Given the description of an element on the screen output the (x, y) to click on. 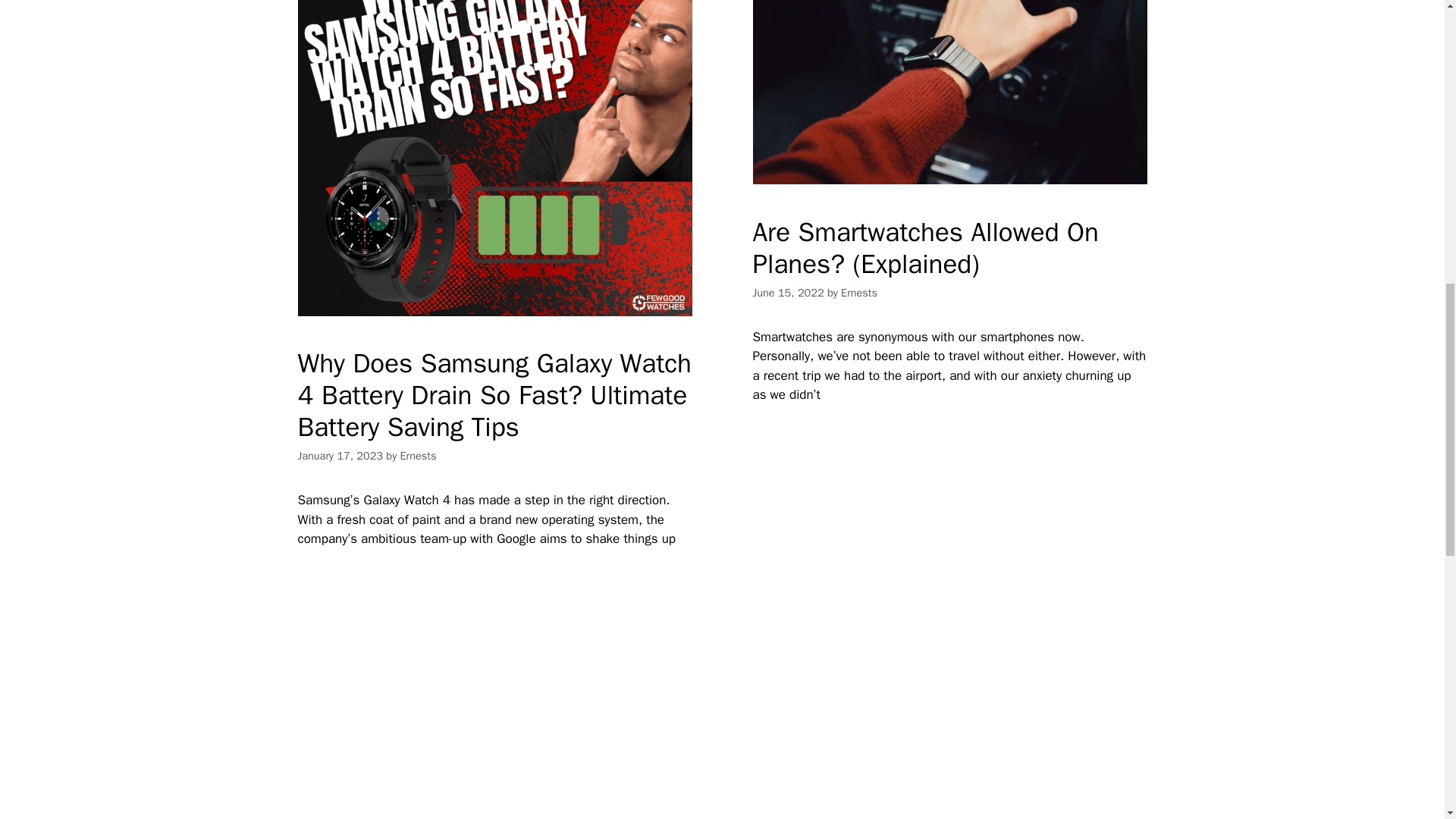
Ernests (859, 292)
Scroll back to top (1406, 720)
View all posts by Ernests (418, 455)
View all posts by Ernests (859, 292)
Ernests (418, 455)
